Given the description of an element on the screen output the (x, y) to click on. 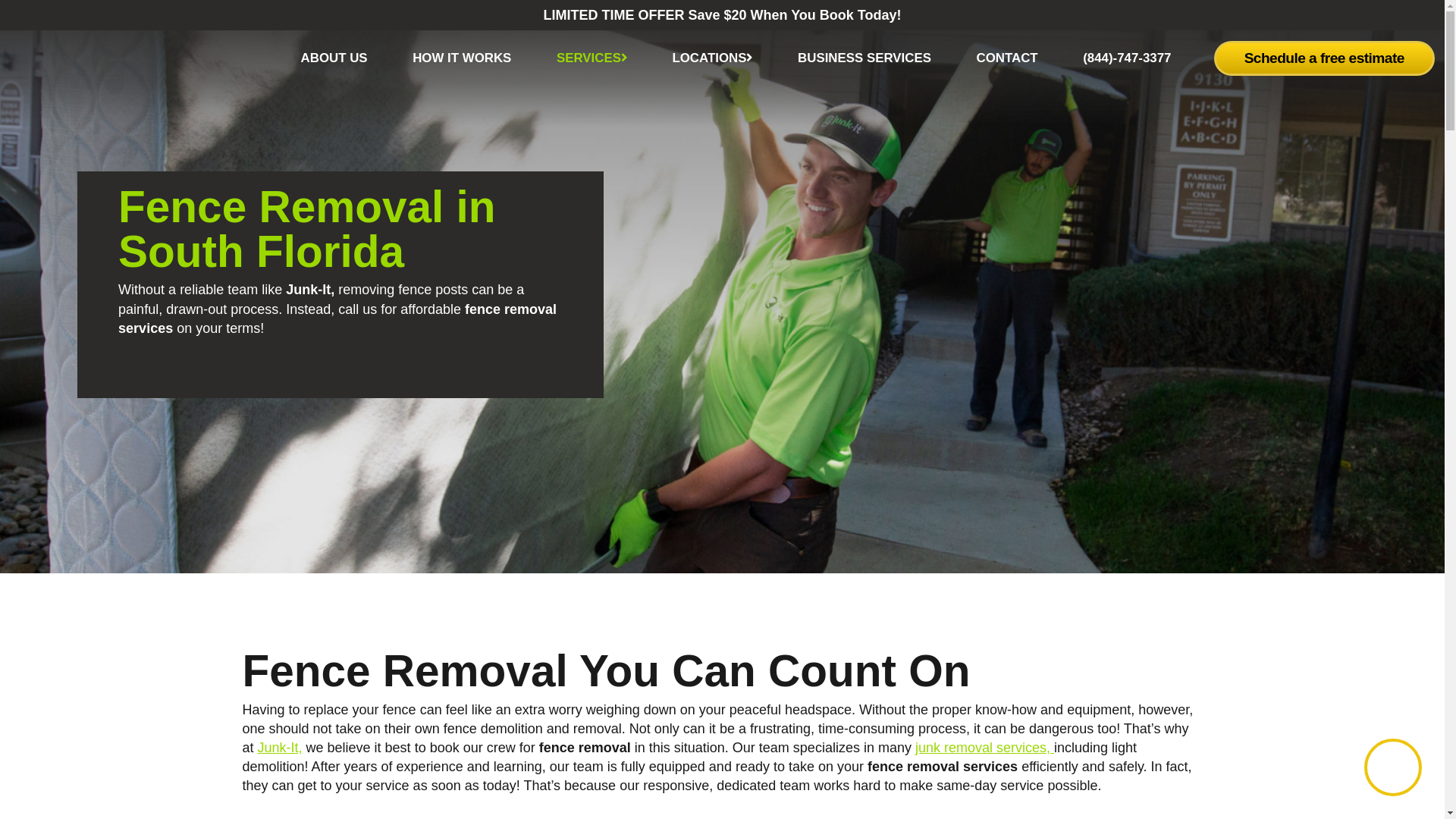
HOW IT WORKS (461, 57)
LOCATIONS (711, 57)
SERVICES (591, 57)
ABOUT US (333, 57)
Schedule a free estimate (1324, 58)
